Given the description of an element on the screen output the (x, y) to click on. 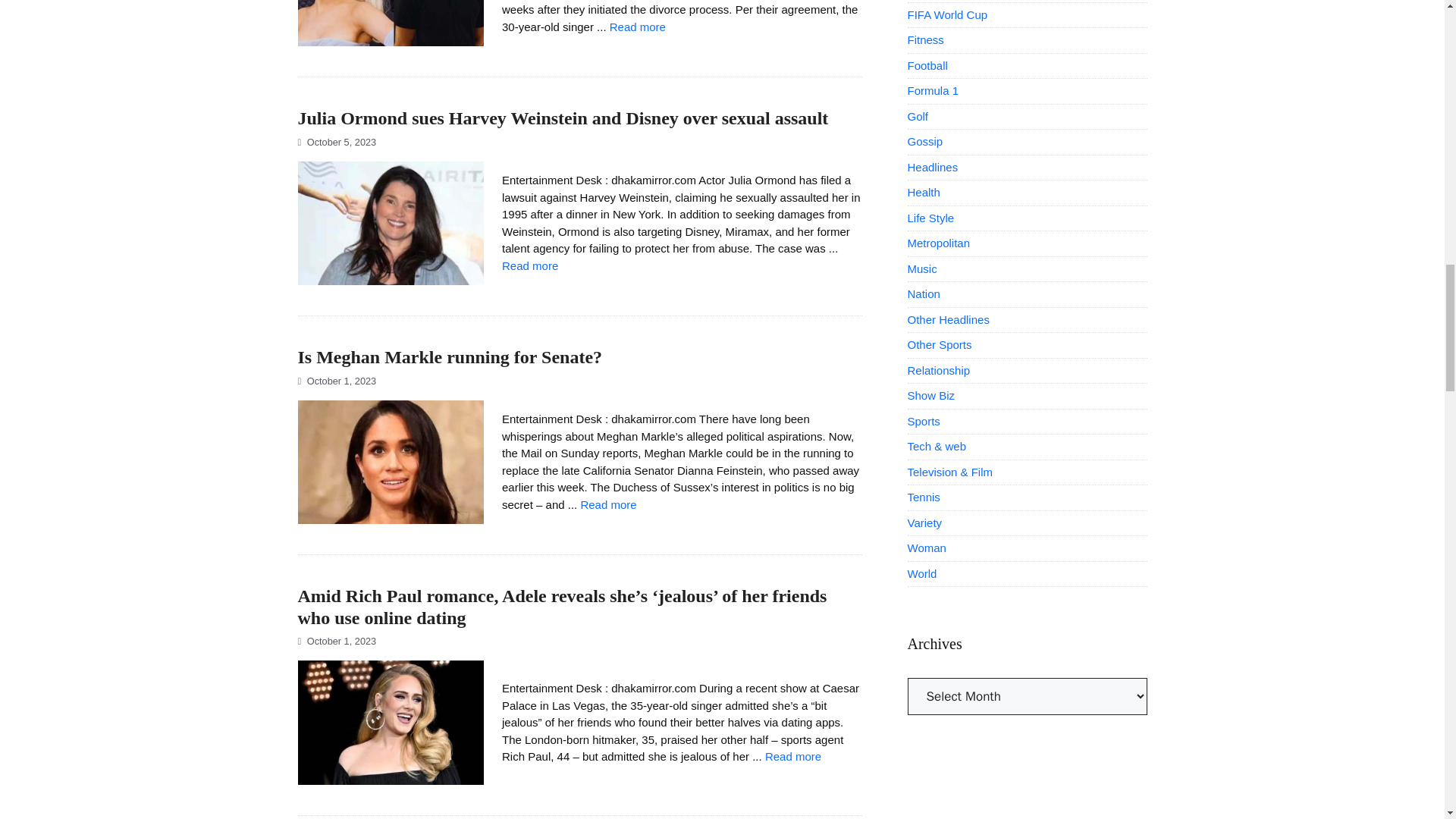
Ariana Grande and Dalton Gomez reach divorce settlement (637, 26)
Is Meghan Markle running for Senate? (607, 504)
